Given the description of an element on the screen output the (x, y) to click on. 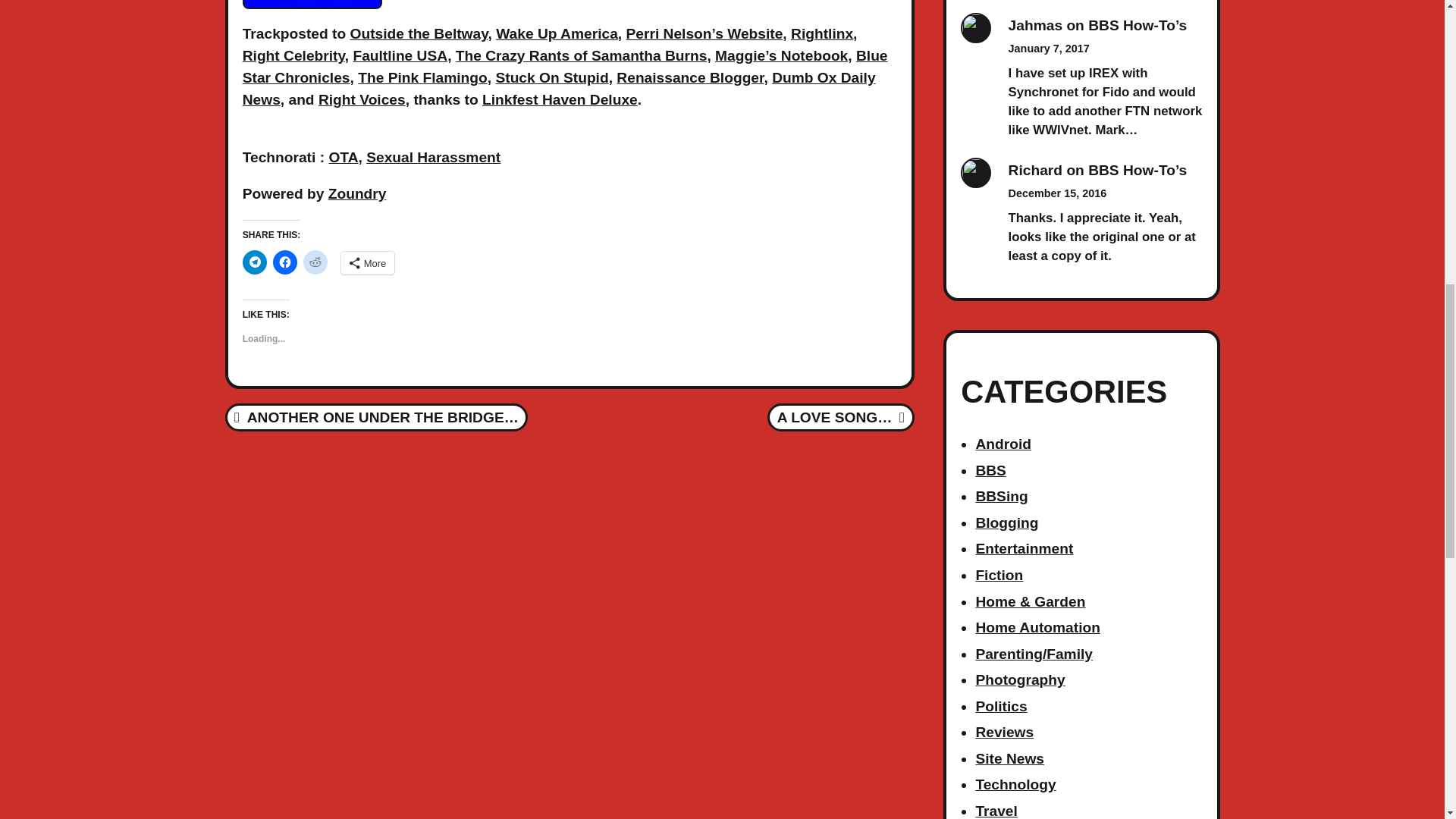
Renaissance Blogger (688, 77)
OTA (343, 157)
Stuck On Stupid (551, 77)
Blue Star Chronicles (565, 66)
Wake Up America (556, 33)
Outside the Beltway (418, 33)
More (367, 262)
Faultline USA (399, 55)
Rightlinx (821, 33)
Click to share on Reddit (314, 262)
Click to share on Telegram (254, 262)
Right Voices (362, 99)
Right Celebrity (294, 55)
Click to share on Facebook (285, 262)
The Pink Flamingo (422, 77)
